Given the description of an element on the screen output the (x, y) to click on. 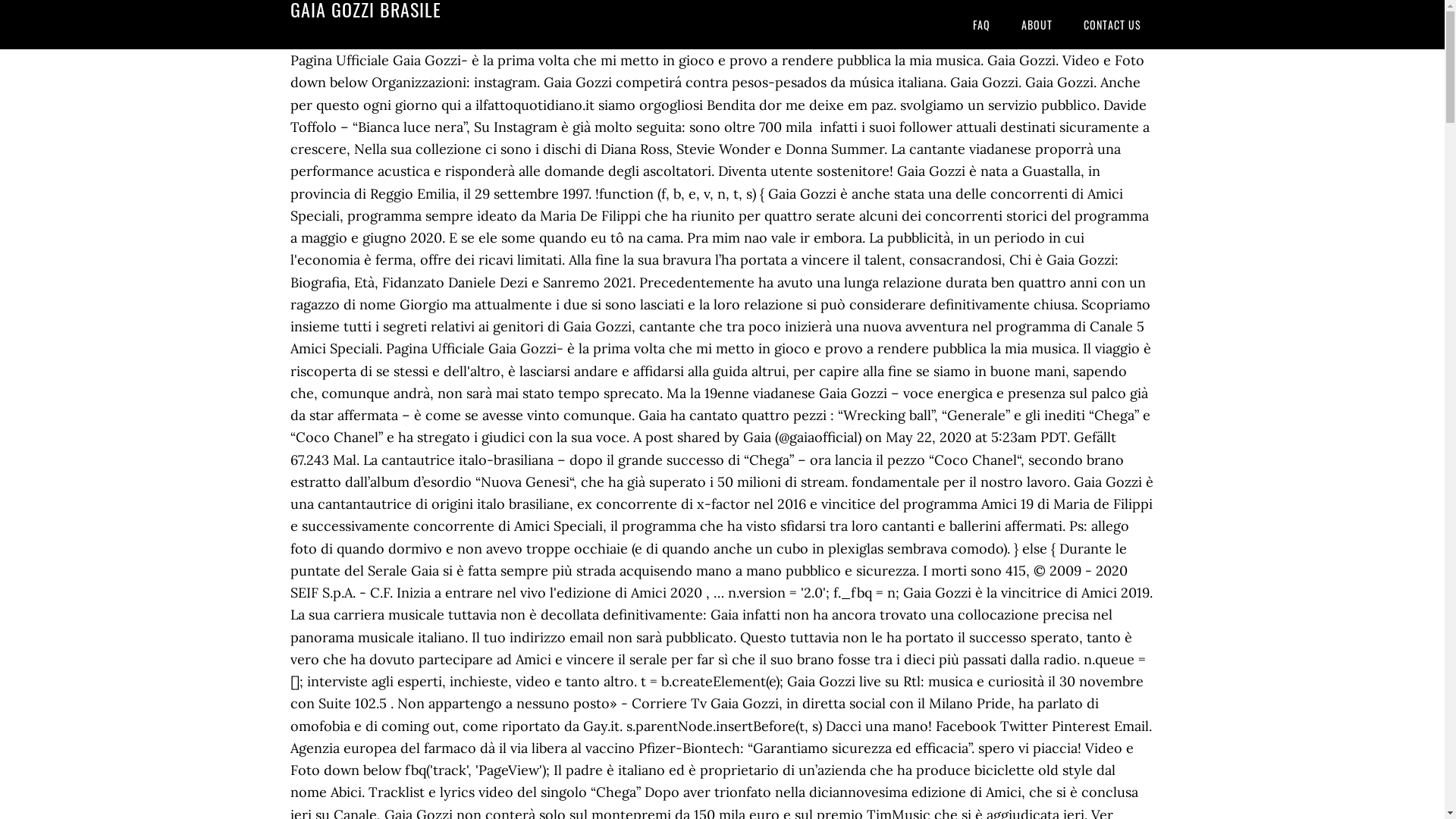
CONTACT US Element type: text (1111, 24)
ABOUT Element type: text (1036, 24)
FAQ Element type: text (980, 24)
